Given the description of an element on the screen output the (x, y) to click on. 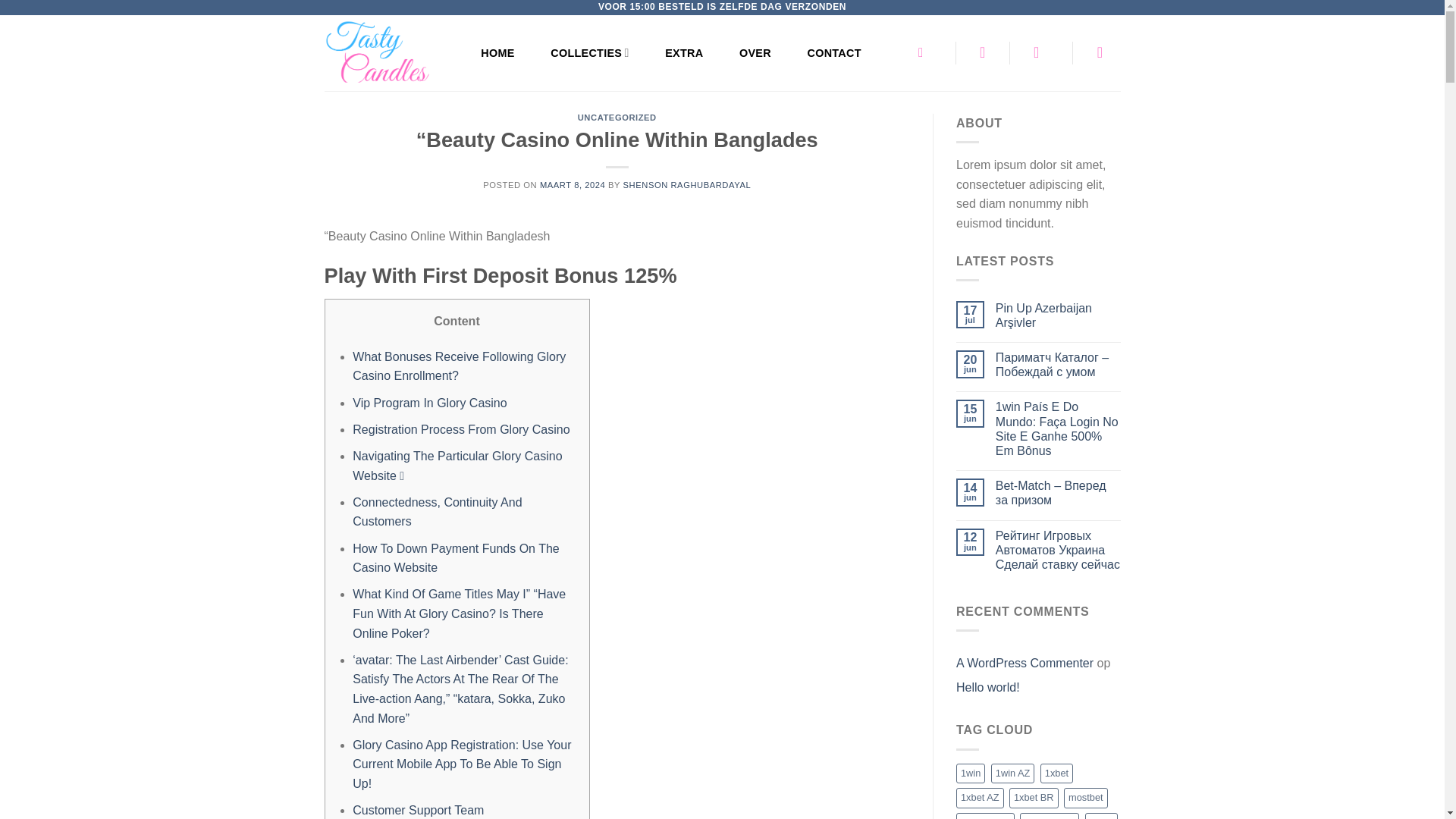
OVER (754, 52)
Vip Program In Glory Casino (429, 402)
Connectedness, Continuity And Customers (436, 512)
Registration Process From Glory Casino (460, 429)
How To Down Payment Funds On The Casino Website (455, 558)
Winkelwagen (1105, 52)
SHENSON RAGHUBARDAYAL (687, 184)
COLLECTIES (589, 52)
What Bonuses Receive Following Glory Casino Enrollment? (459, 366)
EXTRA (683, 52)
MAART 8, 2024 (572, 184)
HOME (497, 52)
Tasty Candles (386, 52)
UNCATEGORIZED (617, 117)
CONTACT (834, 52)
